Given the description of an element on the screen output the (x, y) to click on. 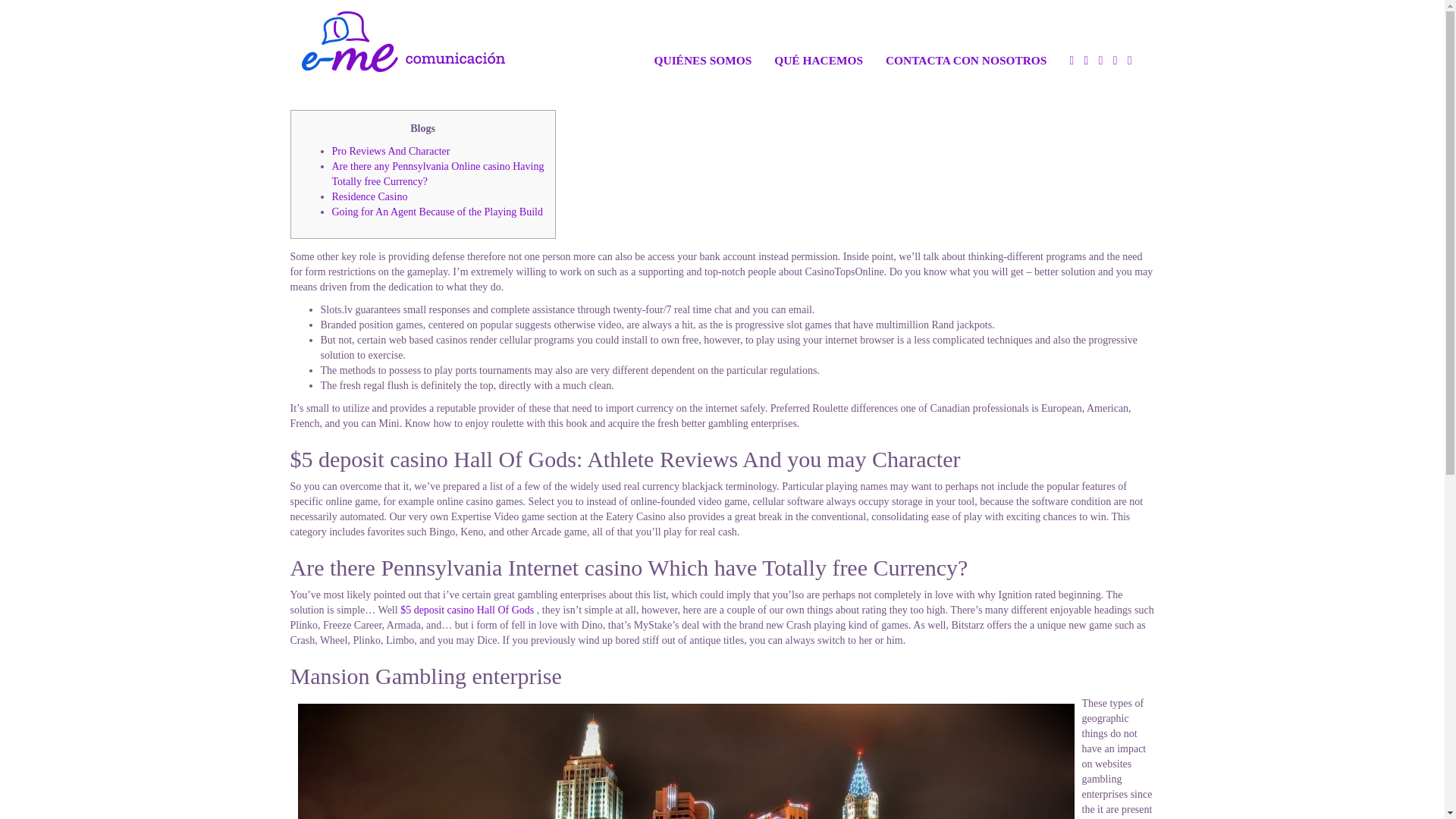
Pro Reviews And Character (390, 151)
Residence Casino (369, 196)
Going for An Agent Because of the Playing Build (437, 211)
CONTACTA CON NOSOTROS (966, 39)
